Given the description of an element on the screen output the (x, y) to click on. 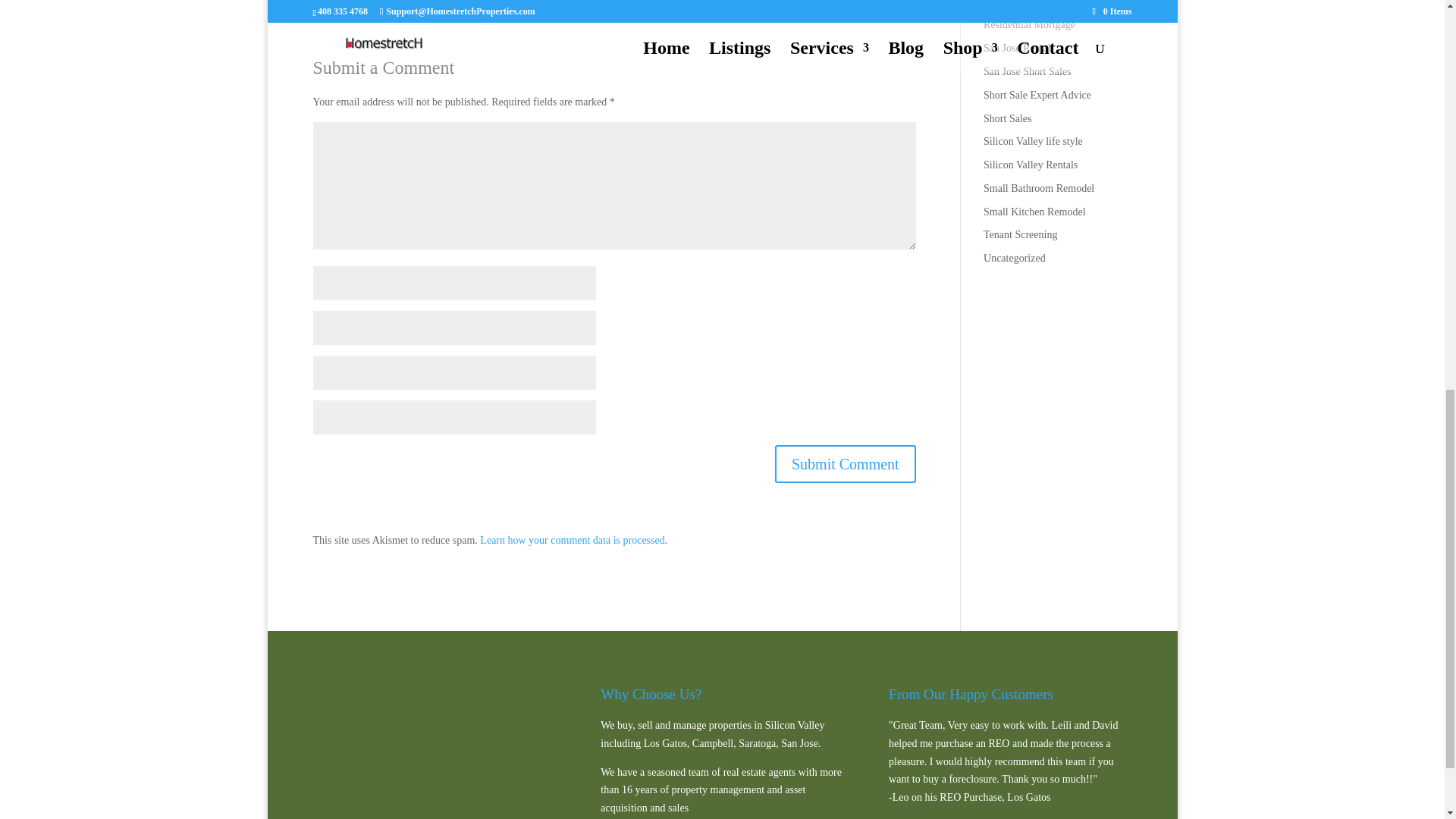
Submit Comment (844, 463)
Learn how your comment data is processed (571, 539)
Submit Comment (844, 463)
